Given the description of an element on the screen output the (x, y) to click on. 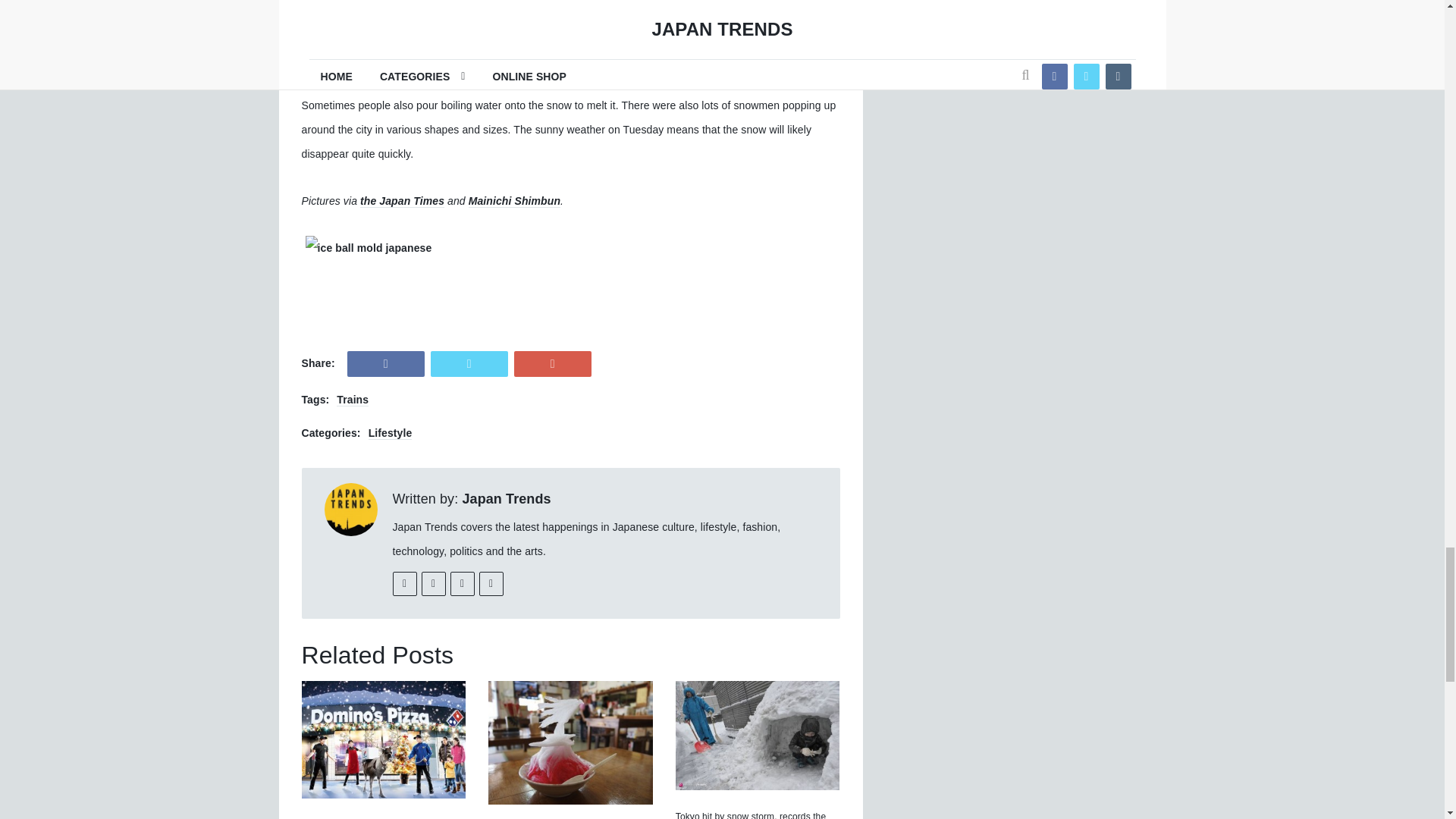
Trains (352, 399)
the Japan Times (401, 201)
Lifestyle (390, 432)
Mainichi Shimbun (514, 201)
Tokyo hit by snow storm, records the most snow in 45 years (757, 735)
Japan Trends (505, 498)
Tokyo hit by snow storm, records the most snow in 45 years (750, 815)
